Given the description of an element on the screen output the (x, y) to click on. 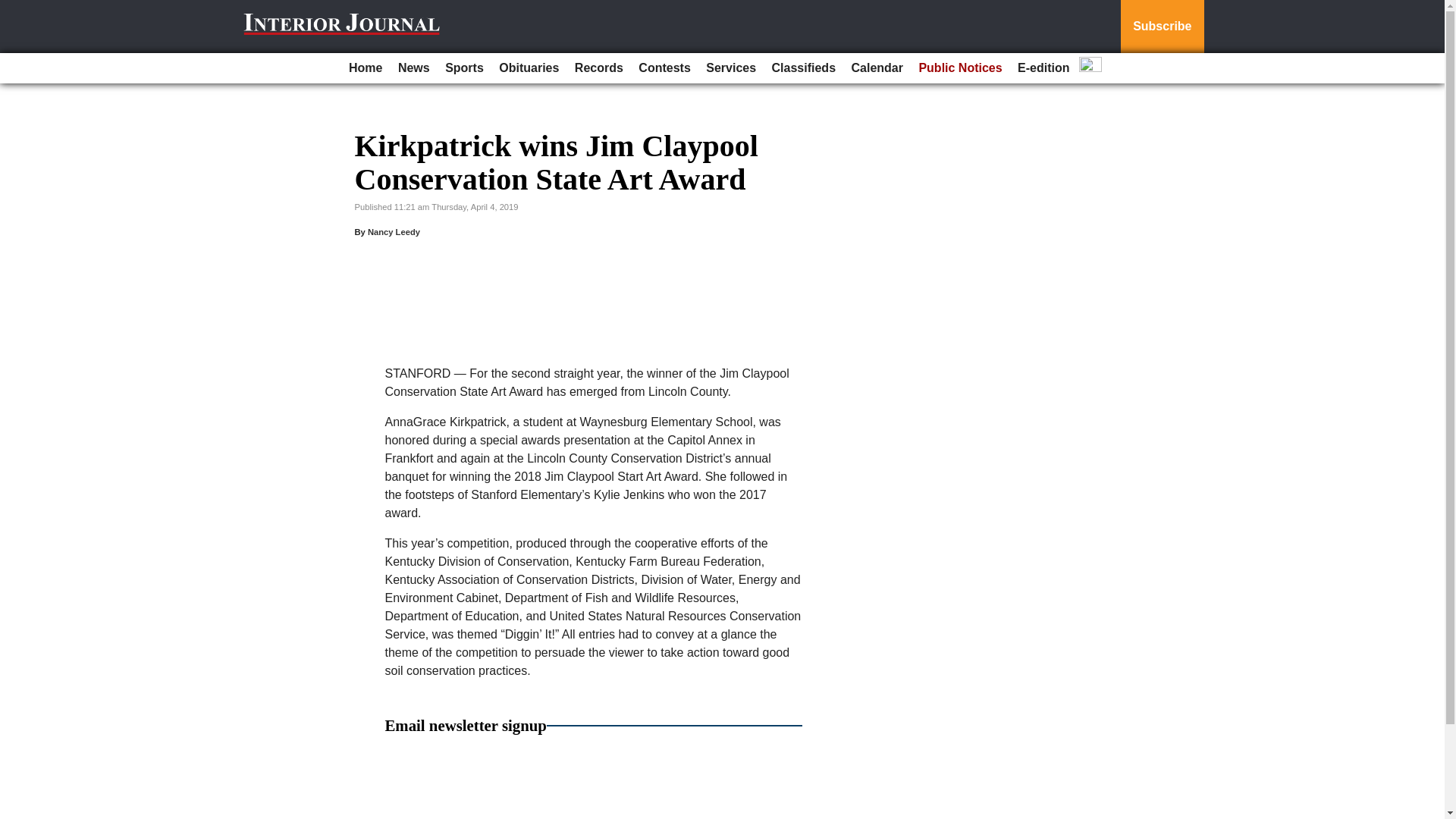
Home (365, 68)
Classifieds (803, 68)
E-edition (1043, 68)
Calendar (876, 68)
Public Notices (959, 68)
Obituaries (528, 68)
Nancy Leedy (394, 231)
Go (13, 9)
Subscribe (1162, 26)
News (413, 68)
